Given the description of an element on the screen output the (x, y) to click on. 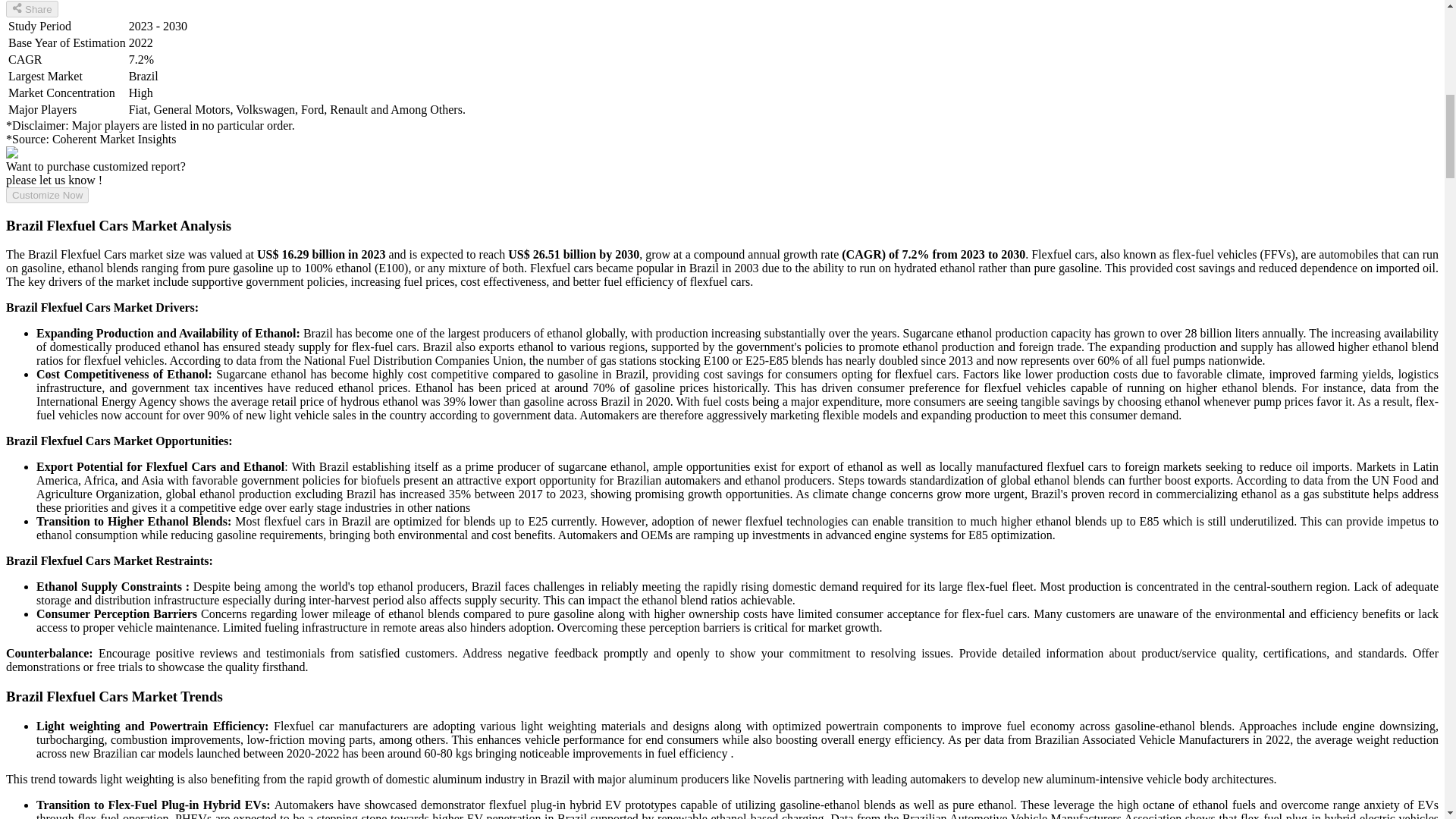
Share (31, 8)
Customize Now (46, 195)
